Given the description of an element on the screen output the (x, y) to click on. 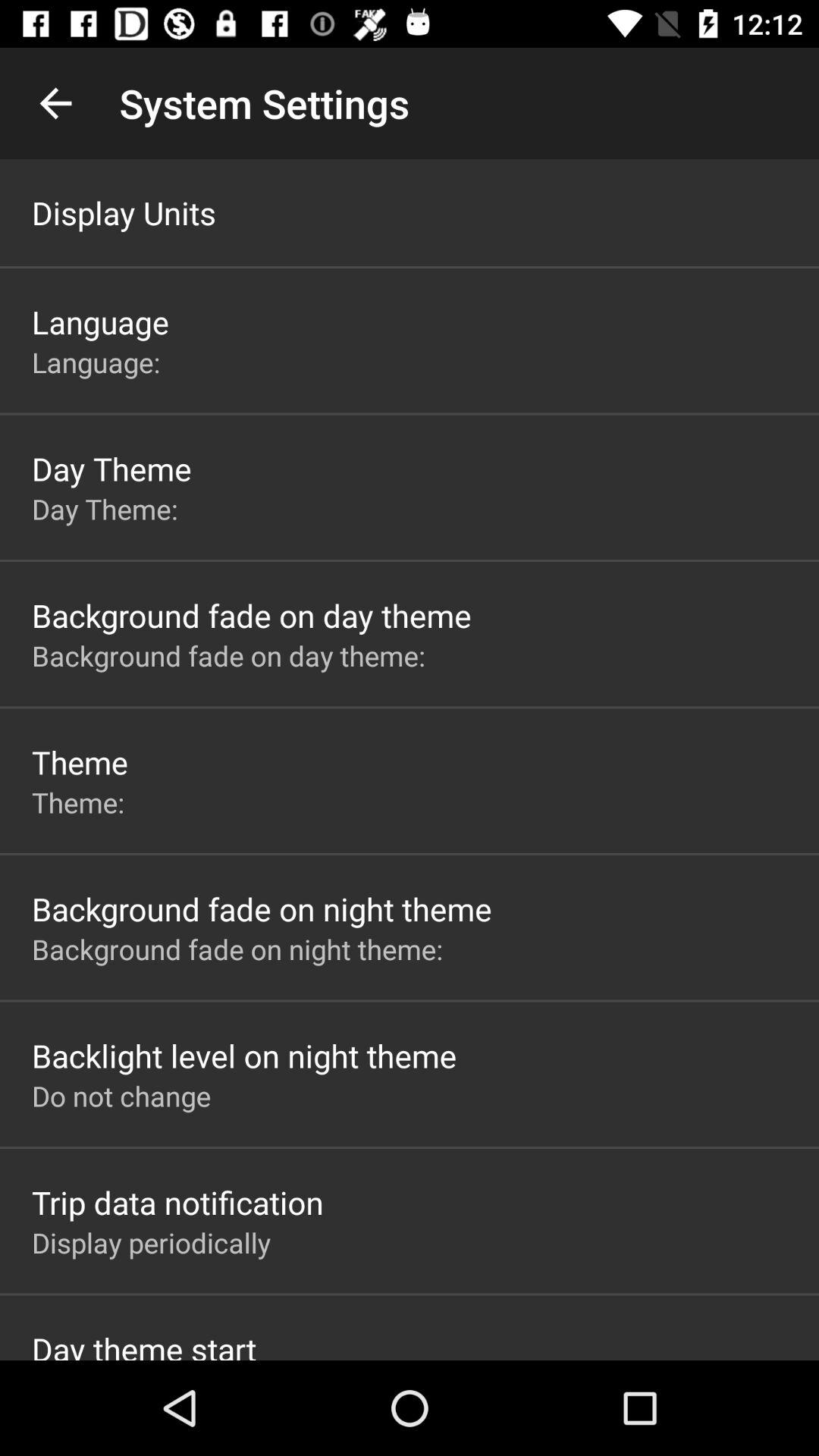
press backlight level on app (243, 1055)
